Given the description of an element on the screen output the (x, y) to click on. 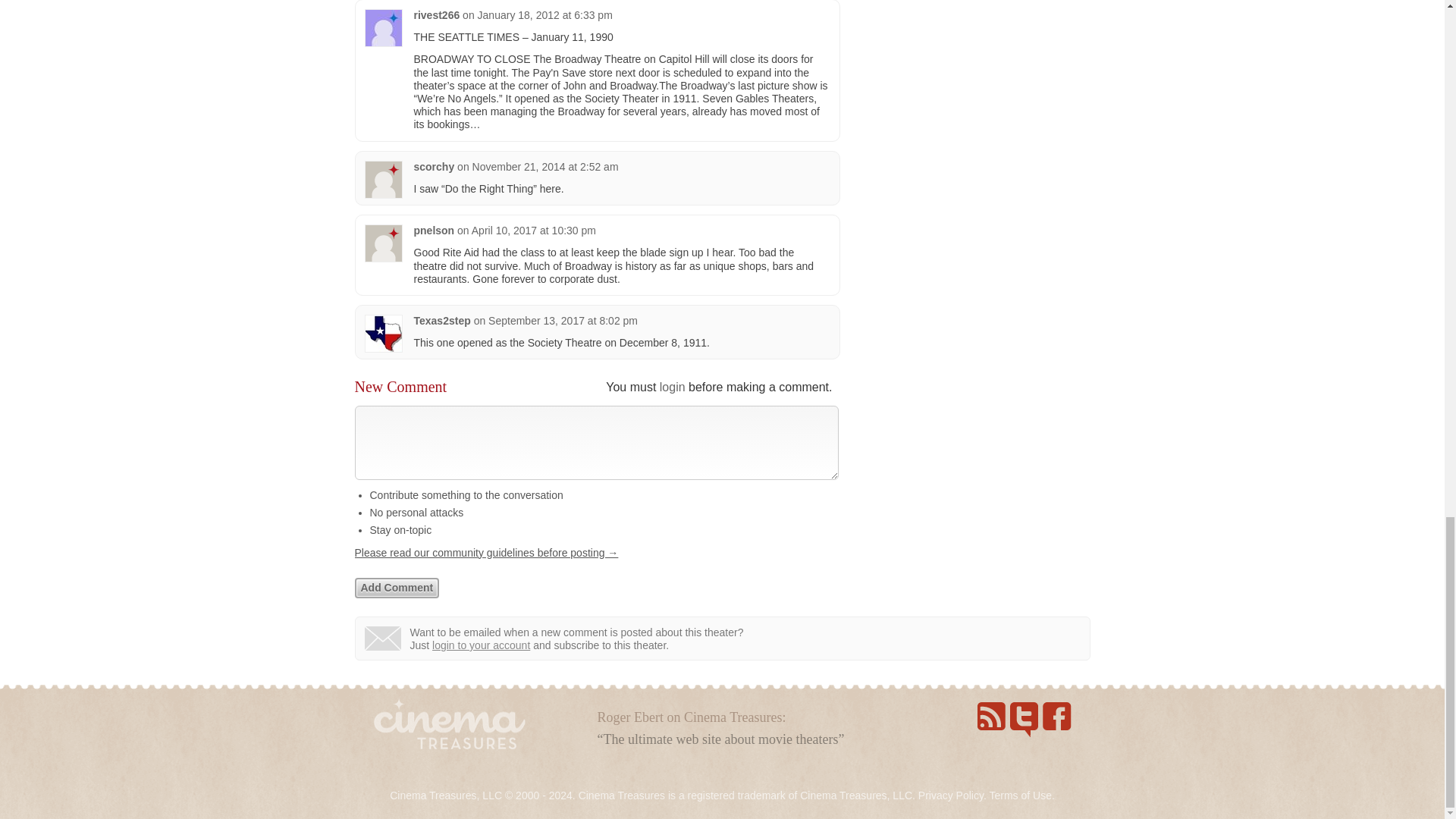
Add Comment (397, 588)
